Given the description of an element on the screen output the (x, y) to click on. 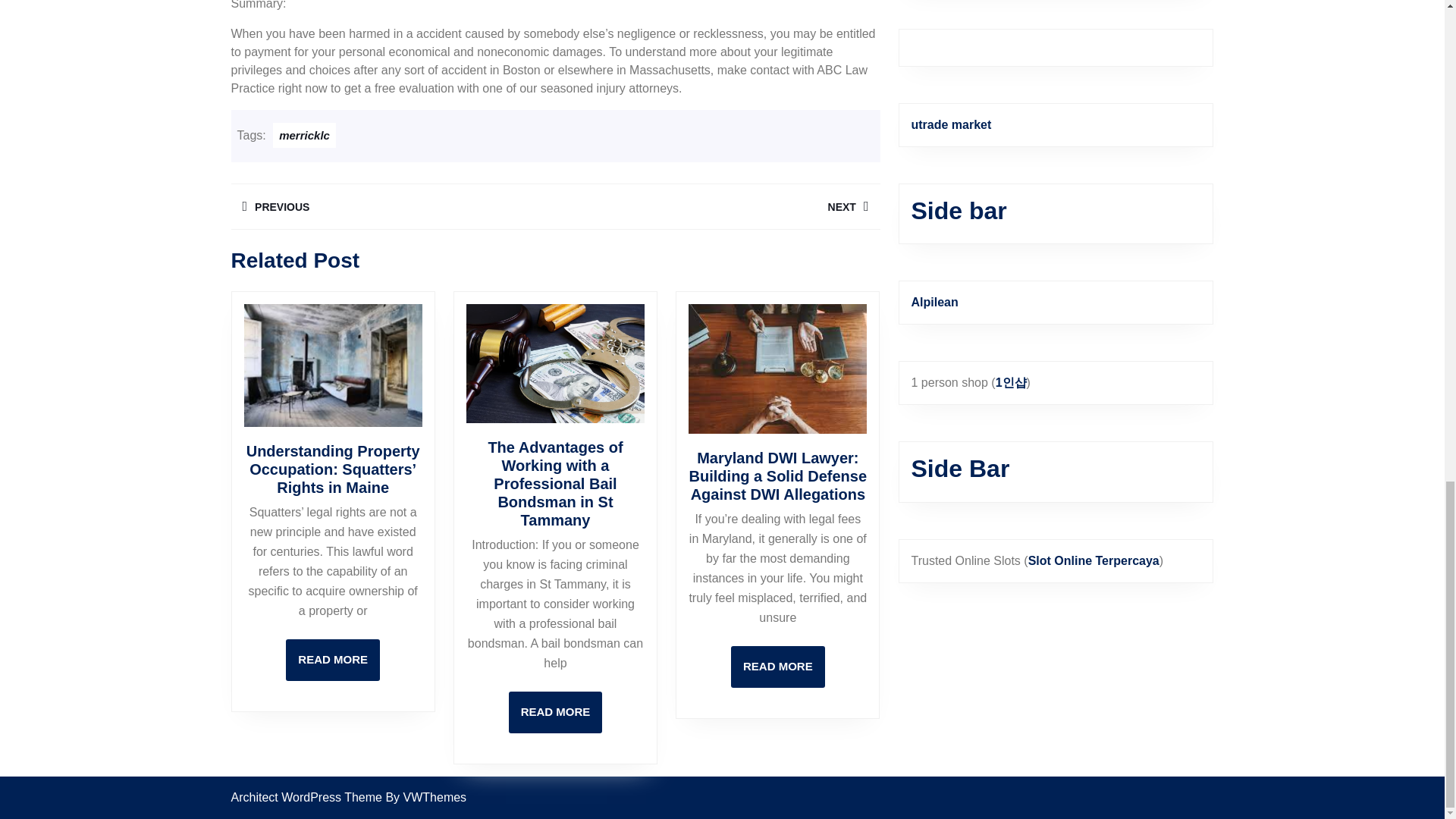
merricklc (304, 135)
